Given the description of an element on the screen output the (x, y) to click on. 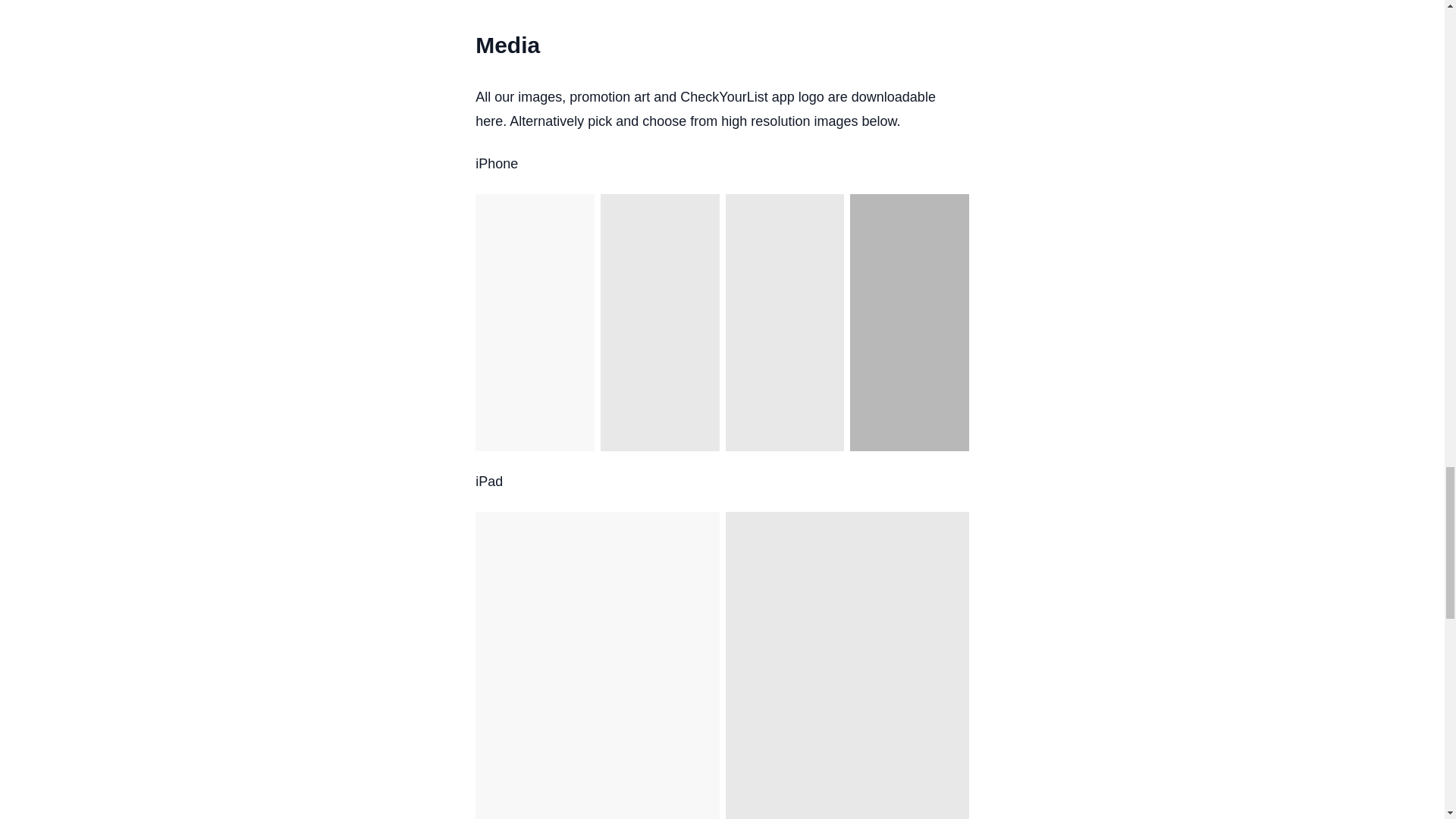
CheckYourList app logo are downloadable here (706, 108)
